Given the description of an element on the screen output the (x, y) to click on. 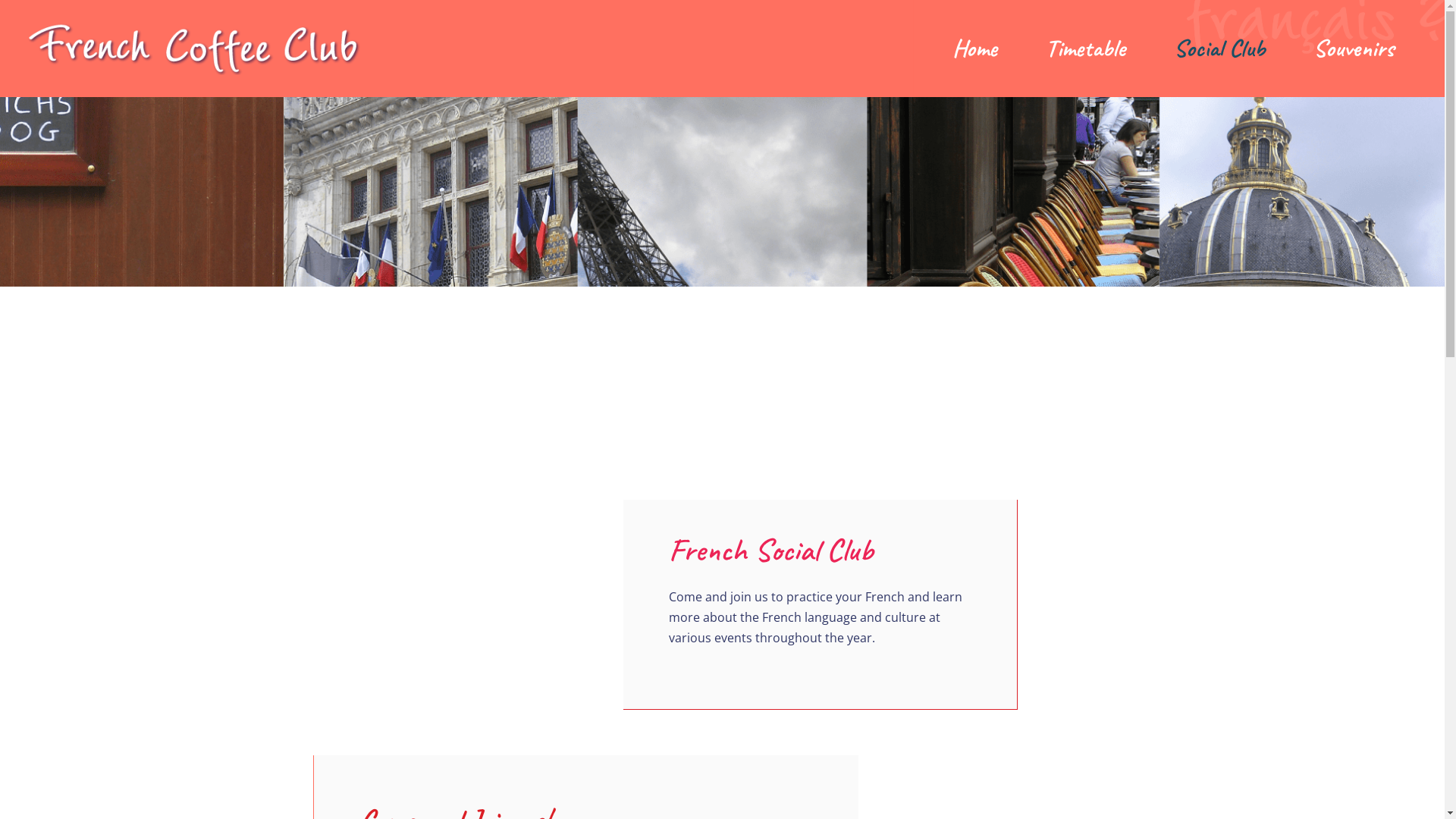
Timetable Element type: text (1085, 48)
Home Element type: text (974, 48)
Souvenirs Element type: text (1353, 48)
Social Club Element type: text (1219, 48)
